Given the description of an element on the screen output the (x, y) to click on. 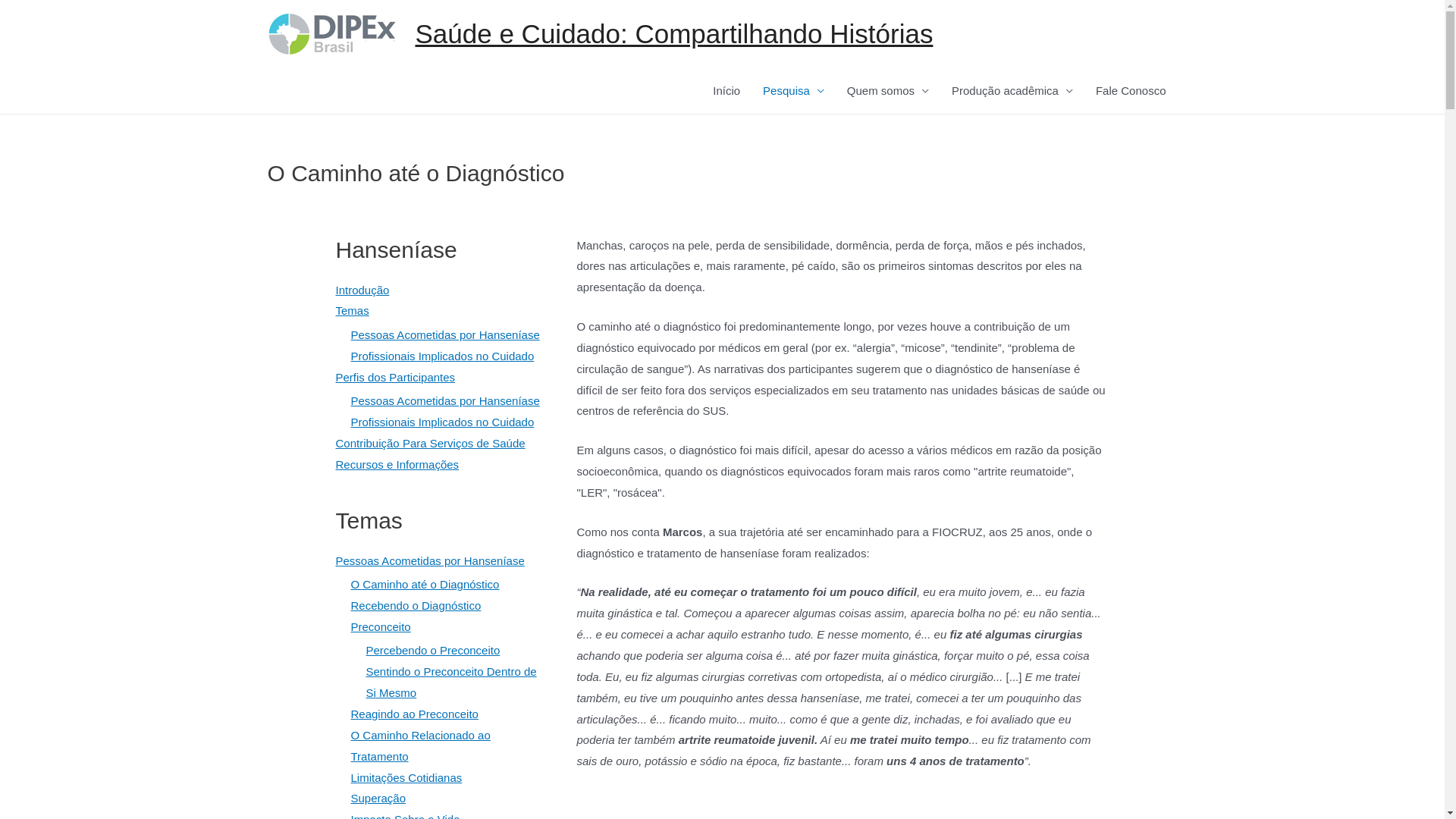
Profissionais Implicados no Cuidado Element type: text (441, 355)
Temas Element type: text (351, 310)
Quem somos Element type: text (887, 90)
Profissionais Implicados no Cuidado Element type: text (441, 421)
Preconceito Element type: text (380, 626)
Reagindo ao Preconceito Element type: text (413, 713)
Fale Conosco Element type: text (1130, 90)
Pesquisa Element type: text (793, 90)
Sentindo o Preconceito Dentro de Si Mesmo Element type: text (450, 682)
Perfis dos Participantes Element type: text (395, 376)
Percebendo o Preconceito Element type: text (432, 649)
O Caminho Relacionado ao Tratamento Element type: text (419, 745)
